Given the description of an element on the screen output the (x, y) to click on. 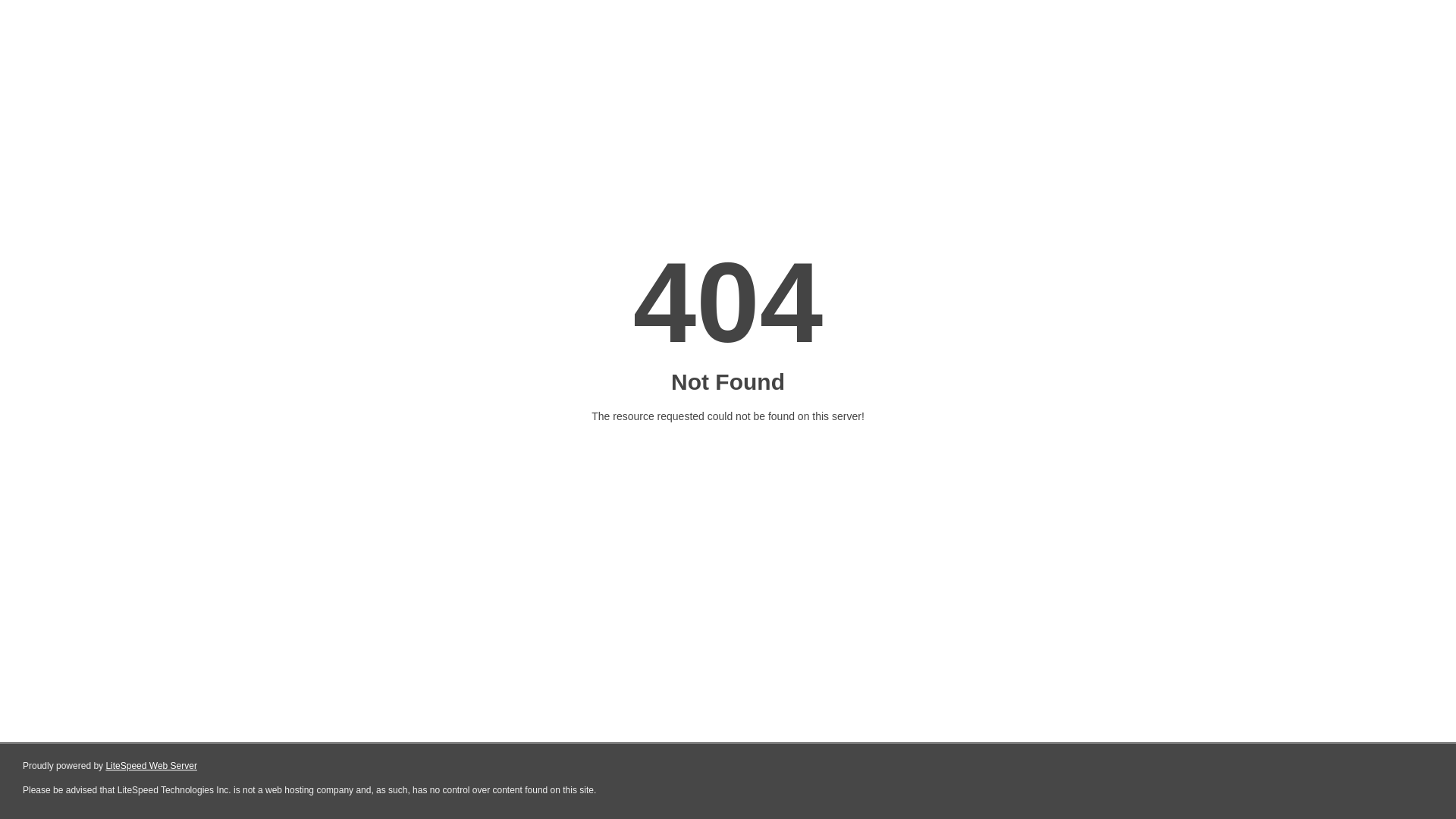
LiteSpeed Web Server (150, 765)
